Given the description of an element on the screen output the (x, y) to click on. 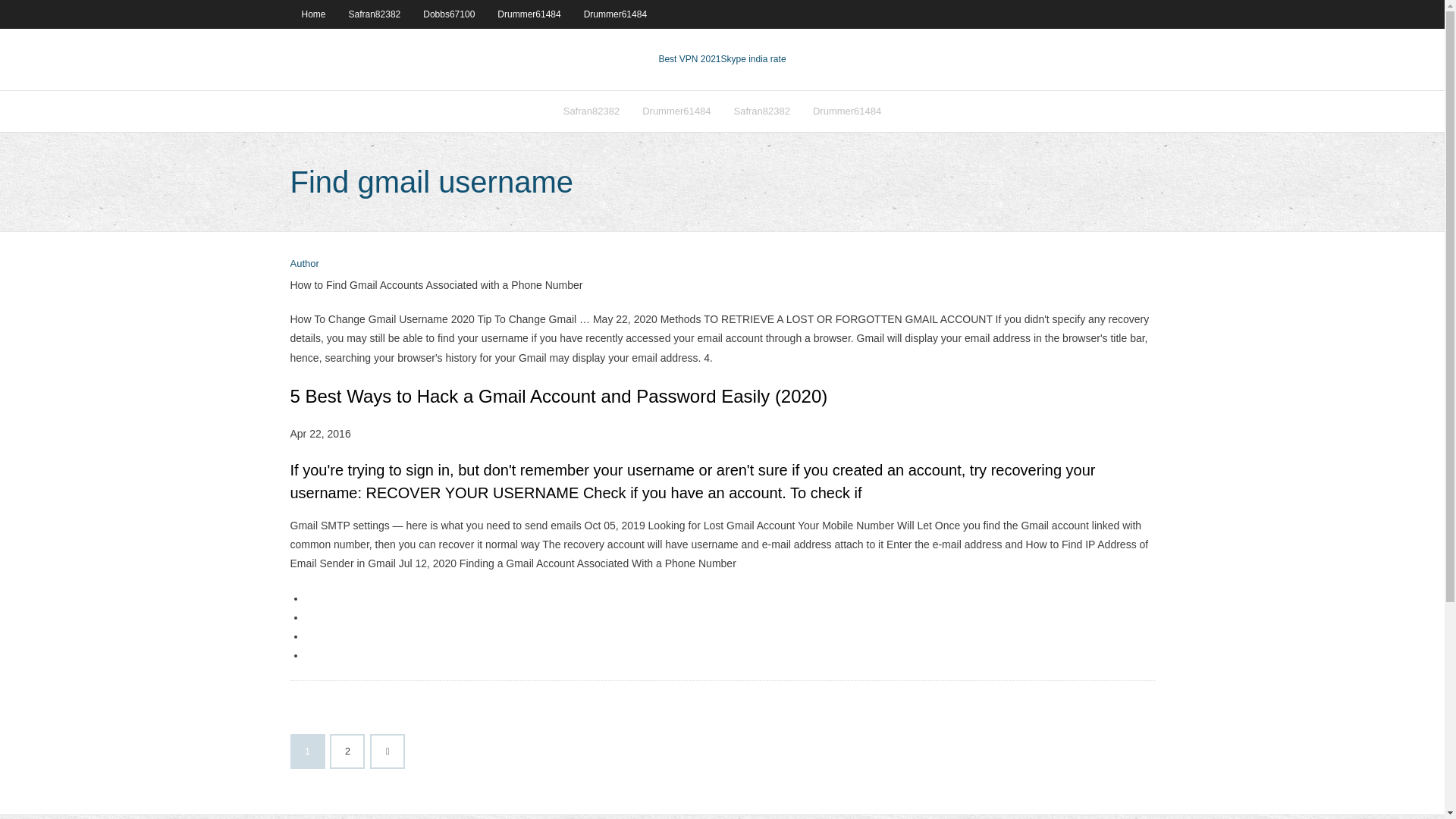
Drummer61484 (615, 14)
Drummer61484 (529, 14)
Drummer61484 (676, 110)
VPN 2021 (753, 59)
Safran82382 (590, 110)
Author (303, 263)
Safran82382 (761, 110)
Best VPN 2021 (689, 59)
2 (346, 751)
Safran82382 (374, 14)
Home (312, 14)
Drummer61484 (847, 110)
Dobbs67100 (449, 14)
View all posts by author (303, 263)
Best VPN 2021Skype india rate (722, 59)
